Given the description of an element on the screen output the (x, y) to click on. 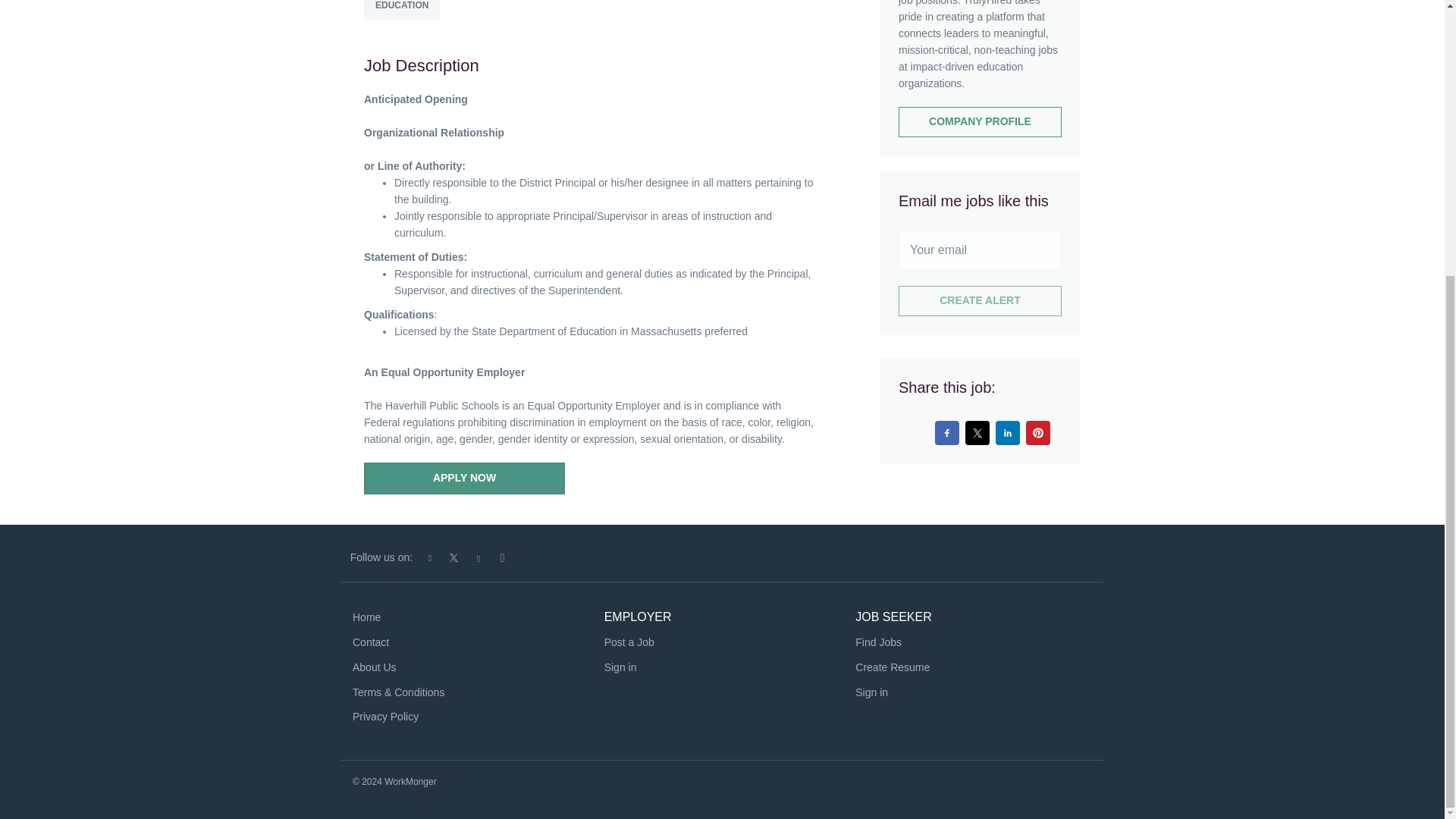
Create alert (979, 300)
   Follow us on: (380, 557)
Create alert (979, 300)
Home (366, 616)
COMPANY PROFILE (979, 122)
APPLY NOW (464, 478)
